Given the description of an element on the screen output the (x, y) to click on. 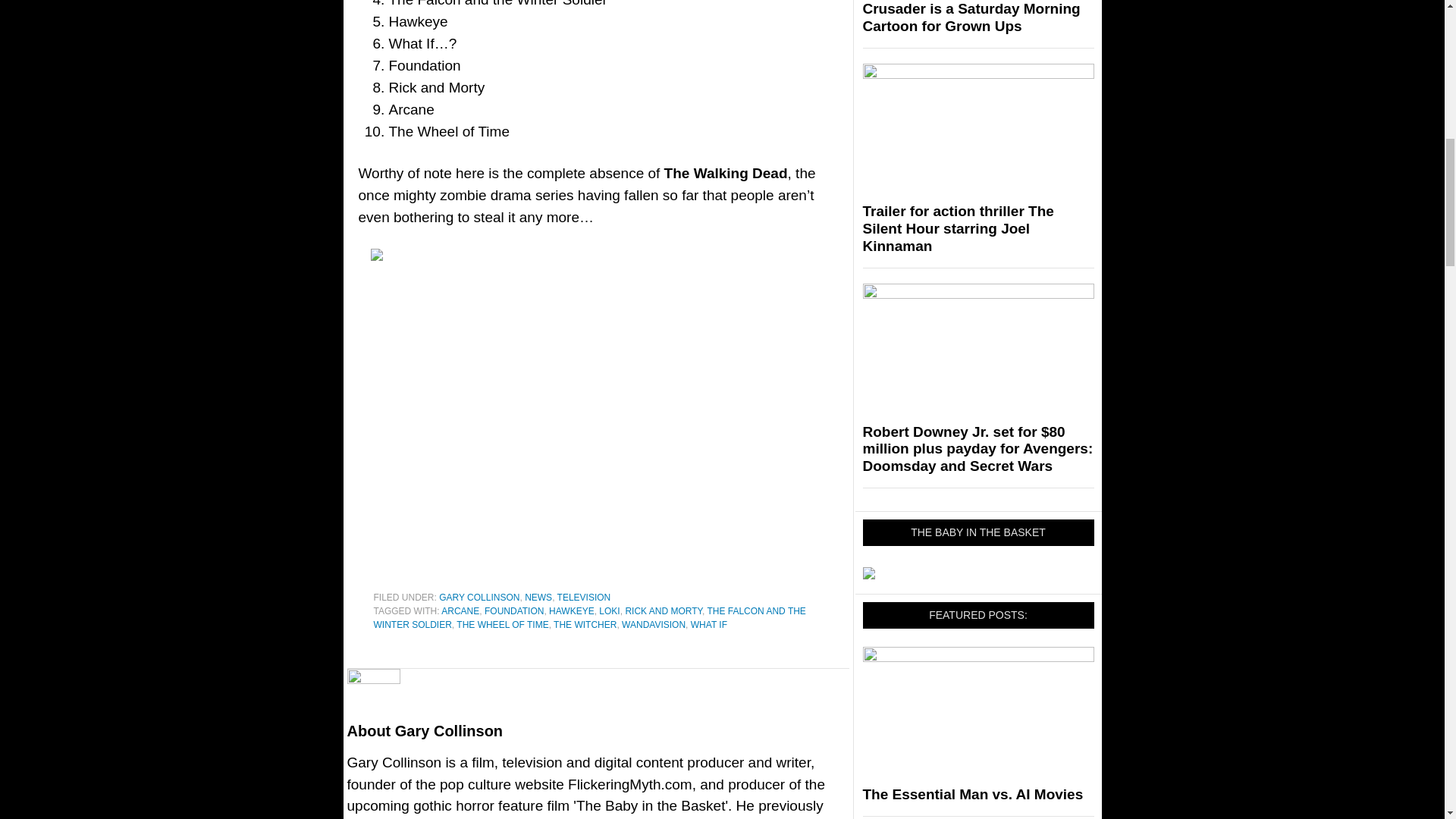
NEWS (537, 597)
TELEVISION (584, 597)
GARY COLLINSON (479, 597)
